Given the description of an element on the screen output the (x, y) to click on. 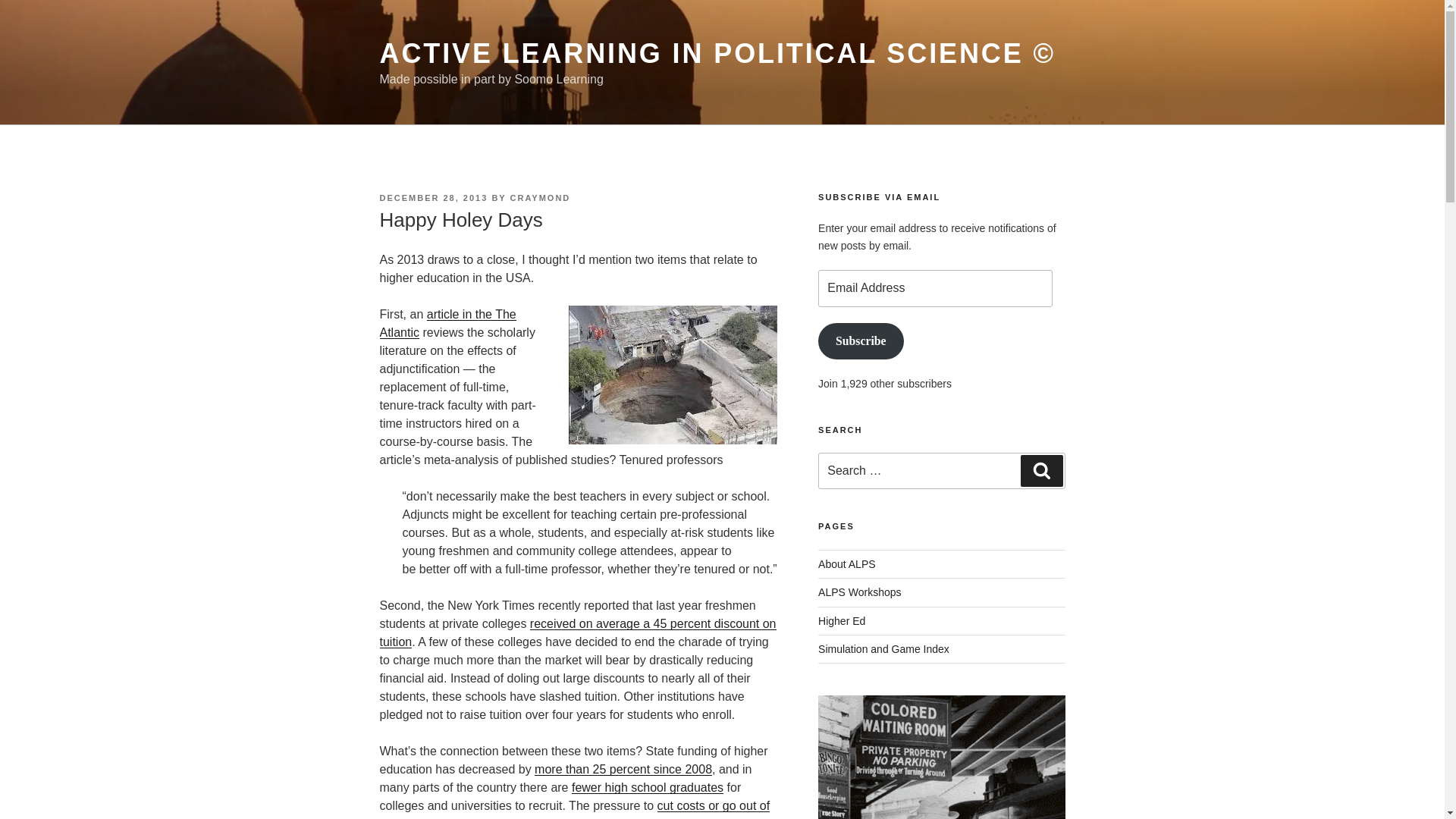
more than 25 percent since 2008 (622, 768)
Subscribe (860, 341)
Higher Ed (841, 620)
About ALPS (847, 563)
fewer high school graduates (647, 787)
ALPS Workshops (859, 592)
cut costs or go out of business (574, 809)
CRAYMOND (540, 197)
Search (1041, 470)
received on average a 45 percent discount on tuition (577, 632)
